Given the description of an element on the screen output the (x, y) to click on. 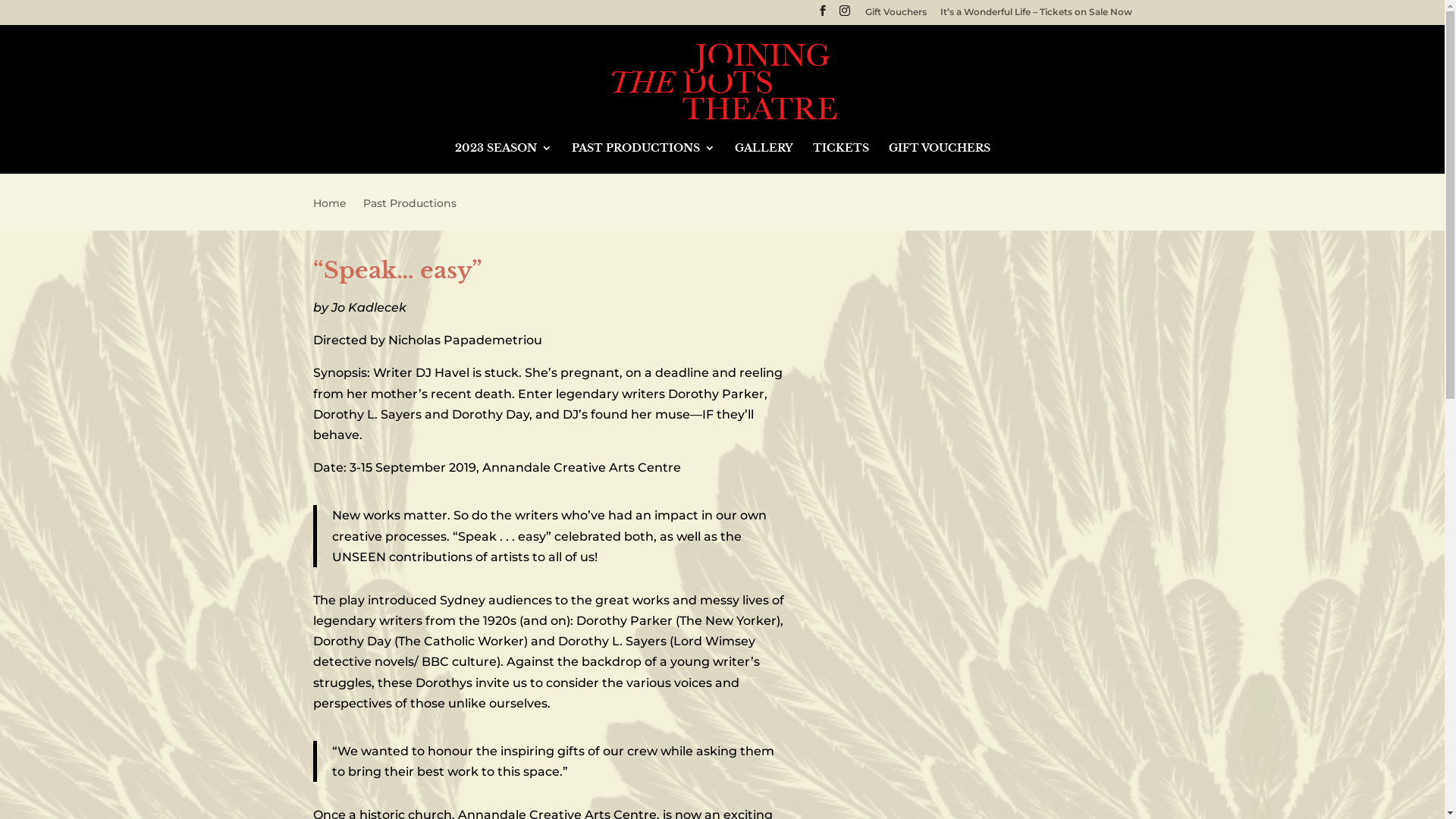
GIFT VOUCHERS Element type: text (939, 157)
TICKETS Element type: text (840, 157)
GALLERY Element type: text (763, 157)
PAST PRODUCTIONS Element type: text (643, 157)
Past Productions Element type: text (408, 213)
2023 SEASON Element type: text (503, 157)
Gift Vouchers Element type: text (894, 15)
Home Element type: text (328, 213)
